Given the description of an element on the screen output the (x, y) to click on. 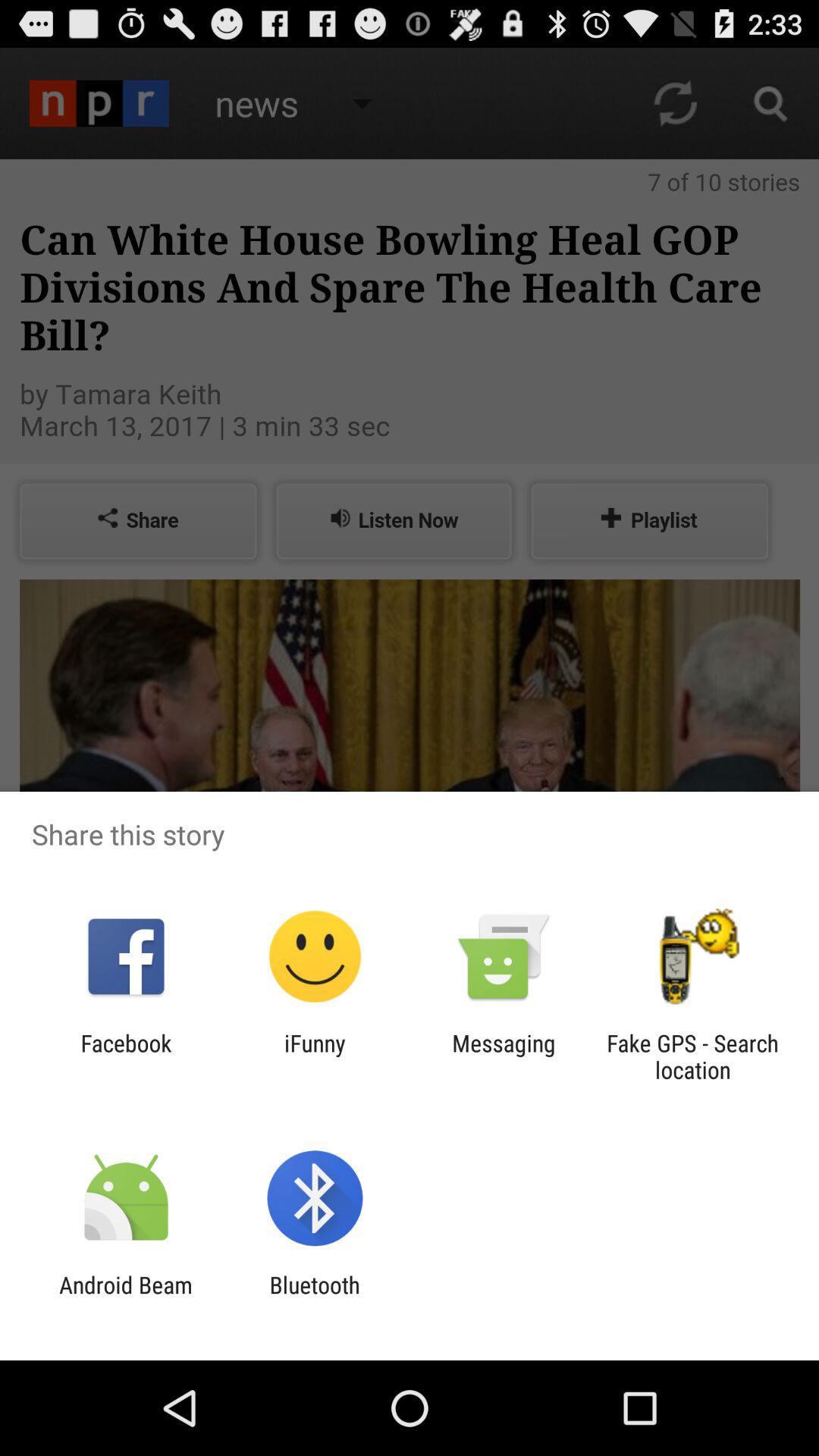
choose the app to the left of fake gps search (503, 1056)
